Given the description of an element on the screen output the (x, y) to click on. 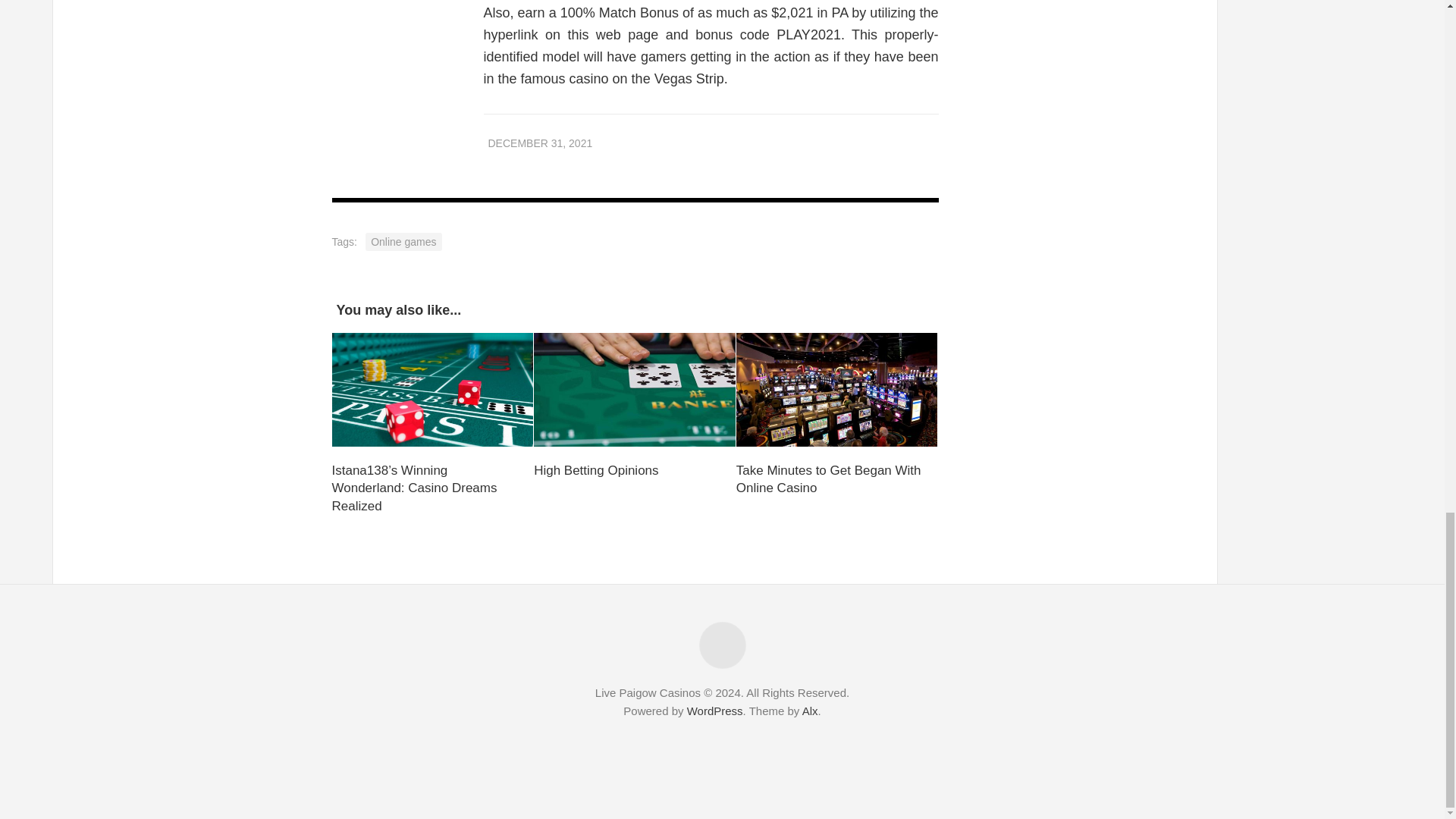
Online games (403, 241)
WordPress (714, 710)
Alx (810, 710)
Take Minutes to Get Began With Online Casino (828, 479)
High Betting Opinions (596, 470)
